Given the description of an element on the screen output the (x, y) to click on. 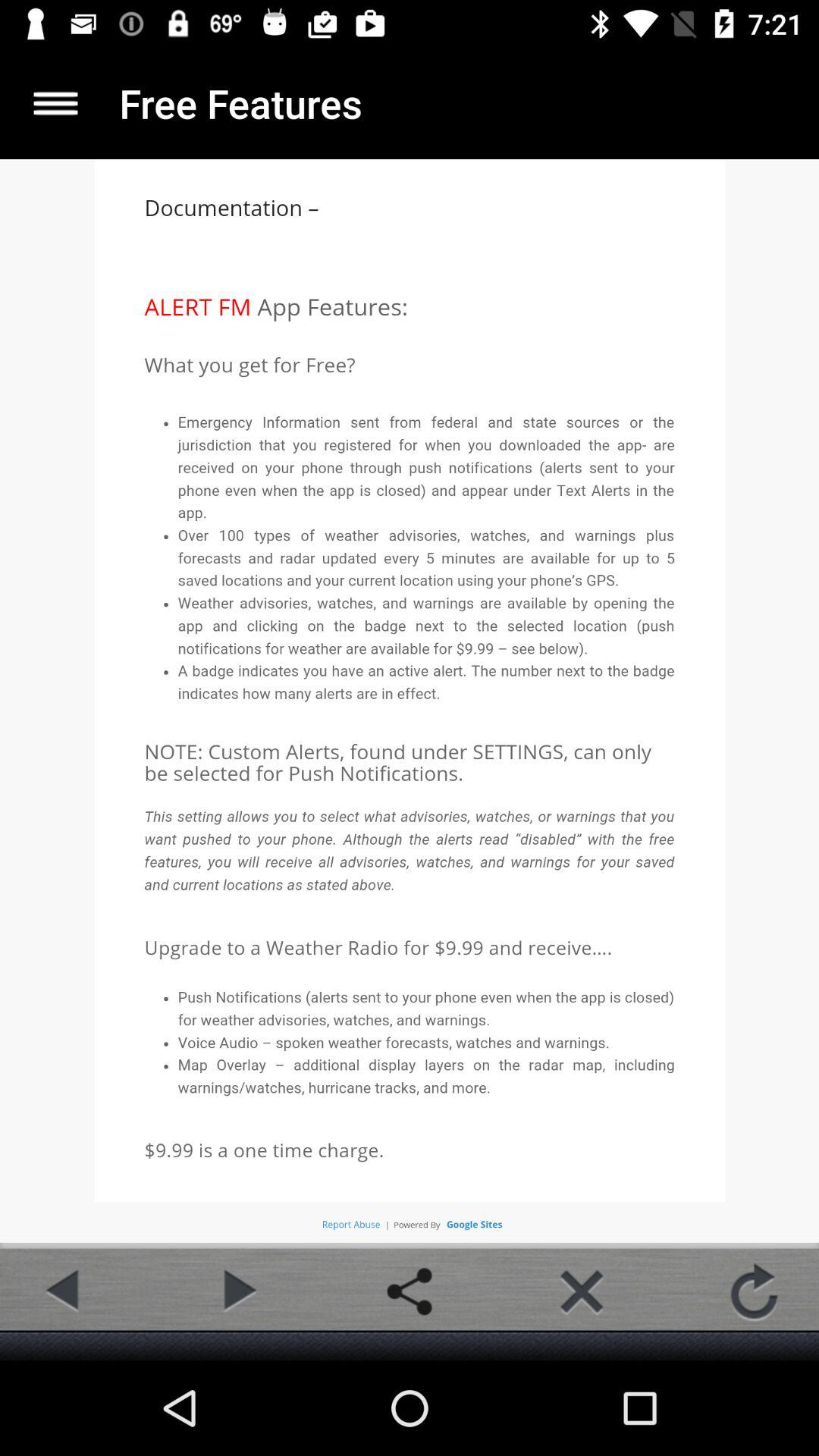
refresh page (754, 1291)
